Given the description of an element on the screen output the (x, y) to click on. 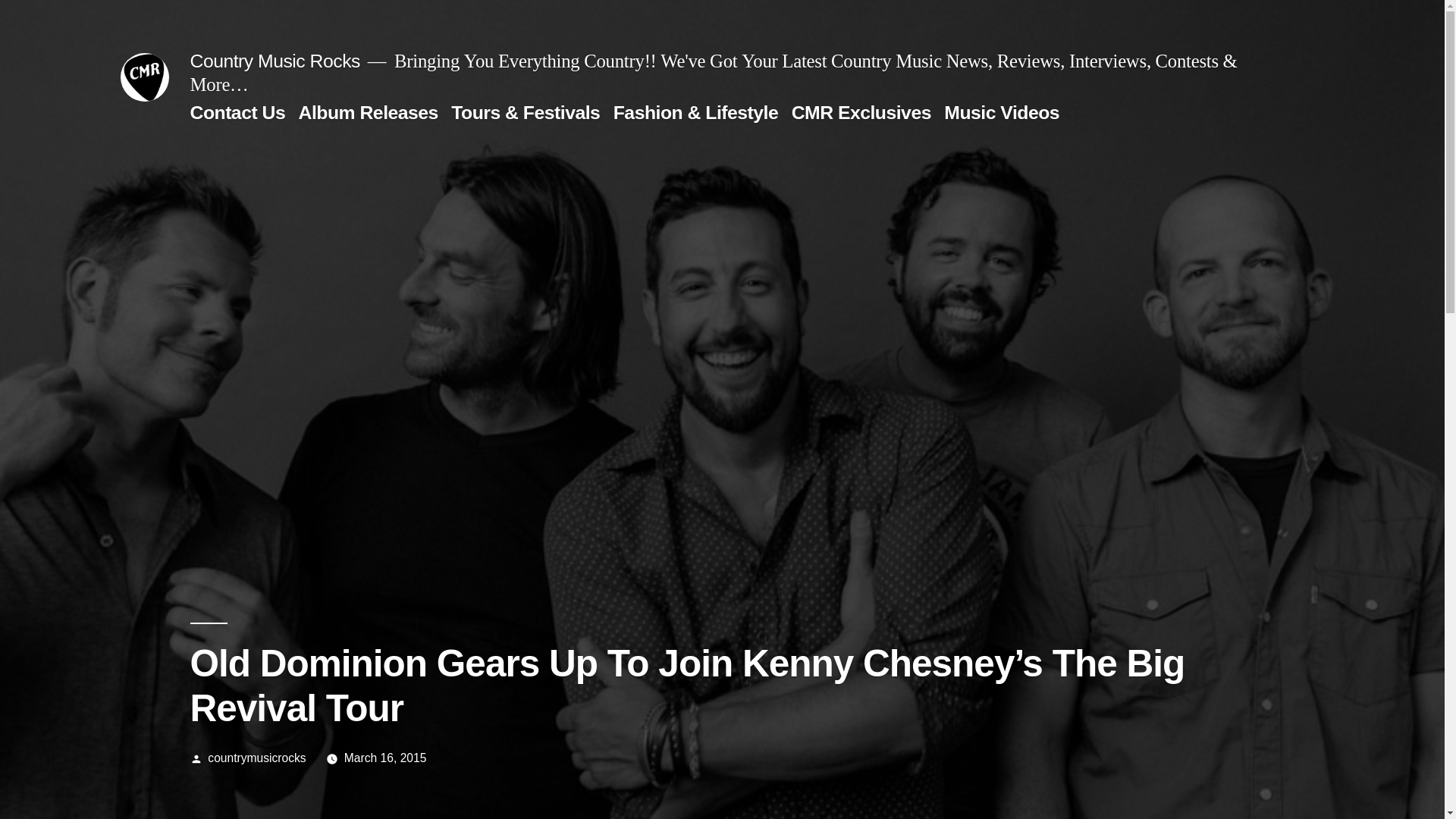
Country Music Rocks (274, 60)
CMR Exclusives (861, 112)
Music Videos (1001, 112)
Contact Us (237, 112)
Album Releases (368, 112)
countrymusicrocks (256, 757)
March 16, 2015 (384, 757)
